Given the description of an element on the screen output the (x, y) to click on. 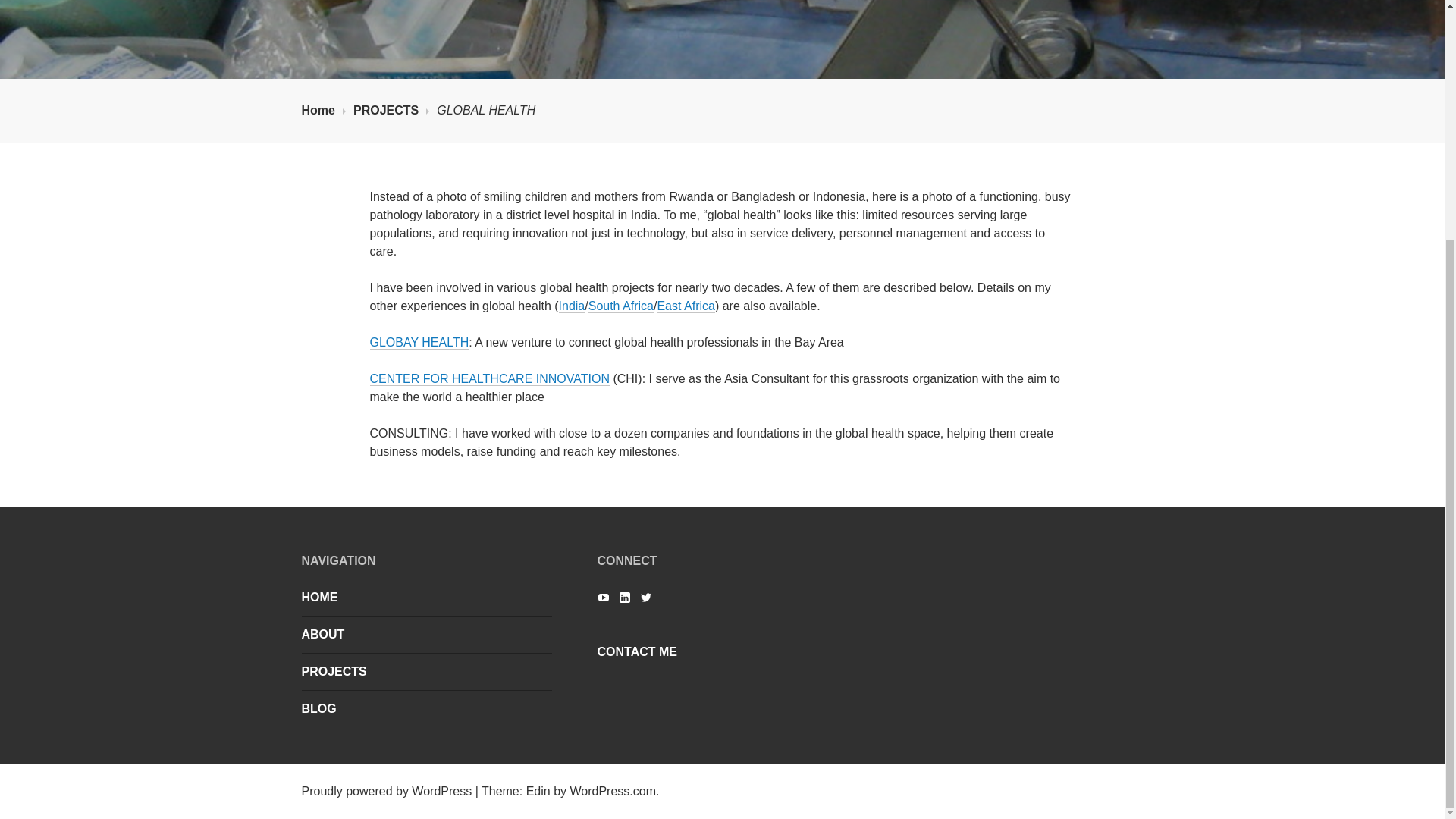
TWITTER (646, 597)
ABOUT (426, 634)
HOME (426, 597)
YOUTUBE (603, 597)
PROJECTS (426, 671)
GLOBAY HEALTH (418, 342)
CONTACT ME (721, 651)
LINKEDIN (624, 597)
CENTER FOR HEALTHCARE INNOVATION (489, 378)
East Africa (685, 305)
India (572, 305)
South Africa (620, 305)
Proudly powered by WordPress (386, 790)
PROJECTS (391, 110)
BLOG (426, 709)
